Given the description of an element on the screen output the (x, y) to click on. 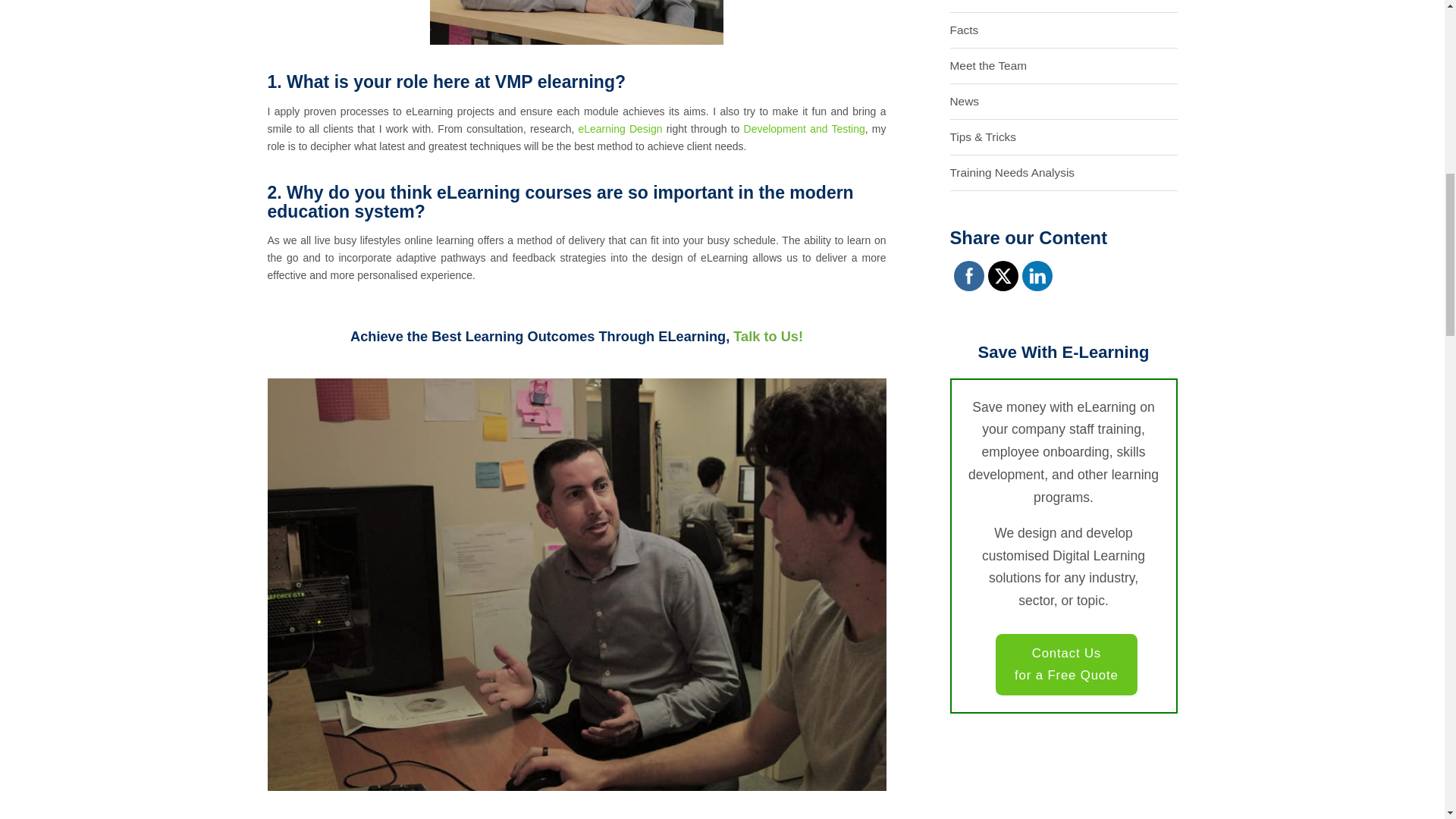
Talk to Us! (768, 336)
Facebook (967, 275)
Meet the Team (987, 65)
eLearning (975, 5)
Development and Testing (804, 128)
Training Needs Analysis (1011, 172)
eLearning Design (620, 128)
Twitter (1002, 276)
LinkedIn (1036, 275)
